Given the description of an element on the screen output the (x, y) to click on. 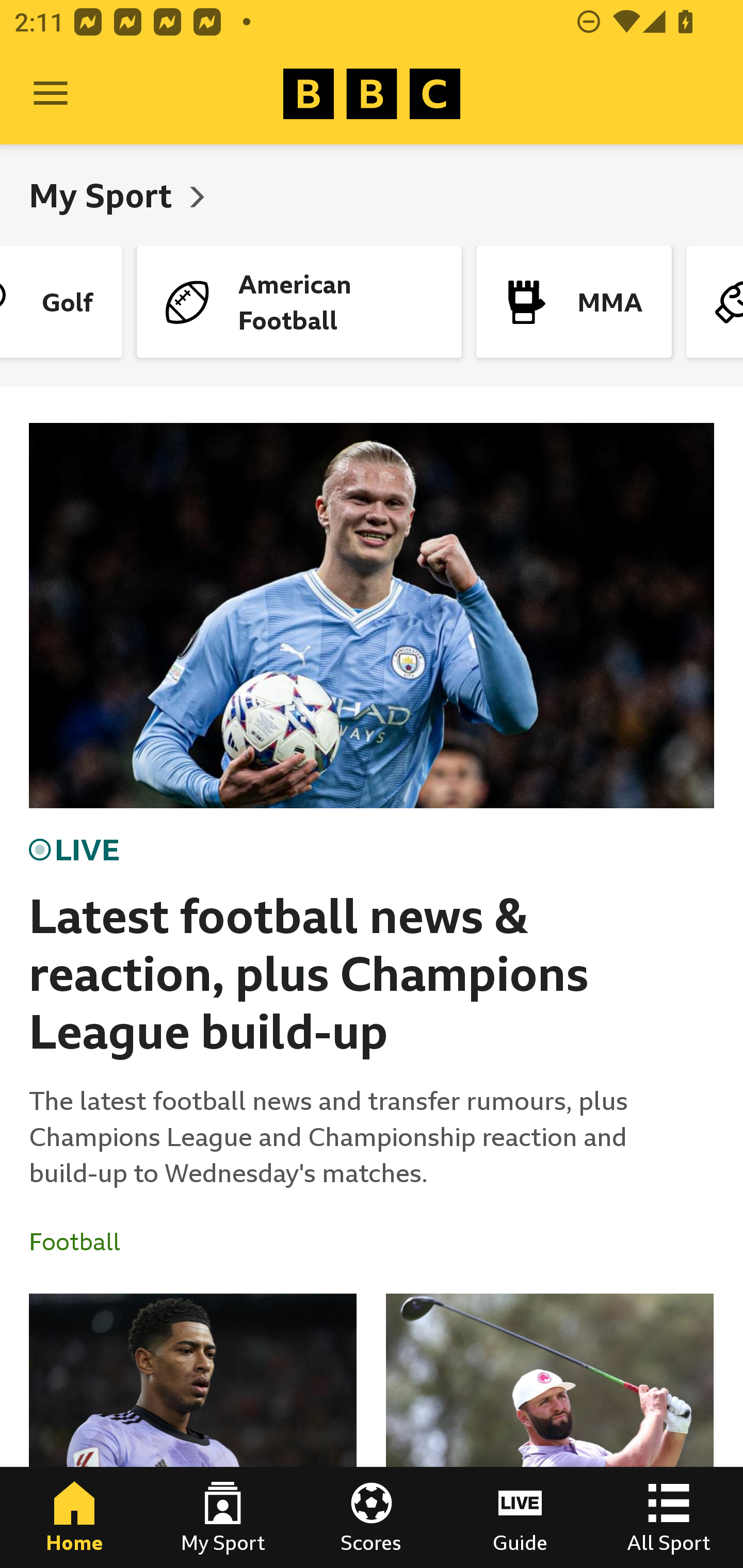
Open Menu (50, 93)
My Sport (104, 195)
Football In the section Football (81, 1241)
Real midfielder Bellingham banned for two games (192, 1430)
My Sport (222, 1517)
Scores (371, 1517)
Guide (519, 1517)
All Sport (668, 1517)
